Given the description of an element on the screen output the (x, y) to click on. 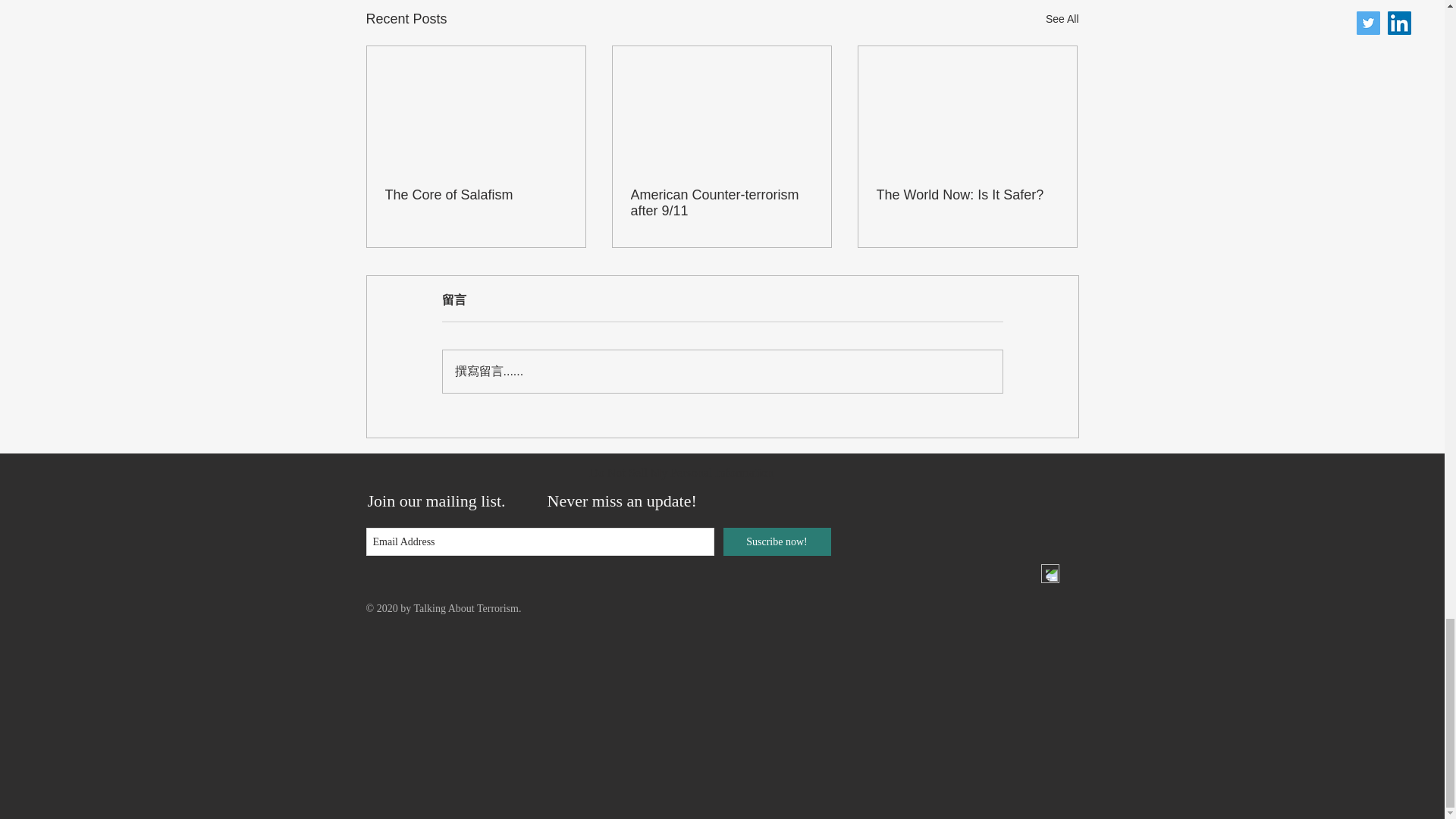
Suscribe now! (777, 541)
The World Now: Is It Safer? (967, 195)
Do Not Sell My Personal Information (681, 473)
See All (1061, 19)
The Core of Salafism (476, 195)
